Given the description of an element on the screen output the (x, y) to click on. 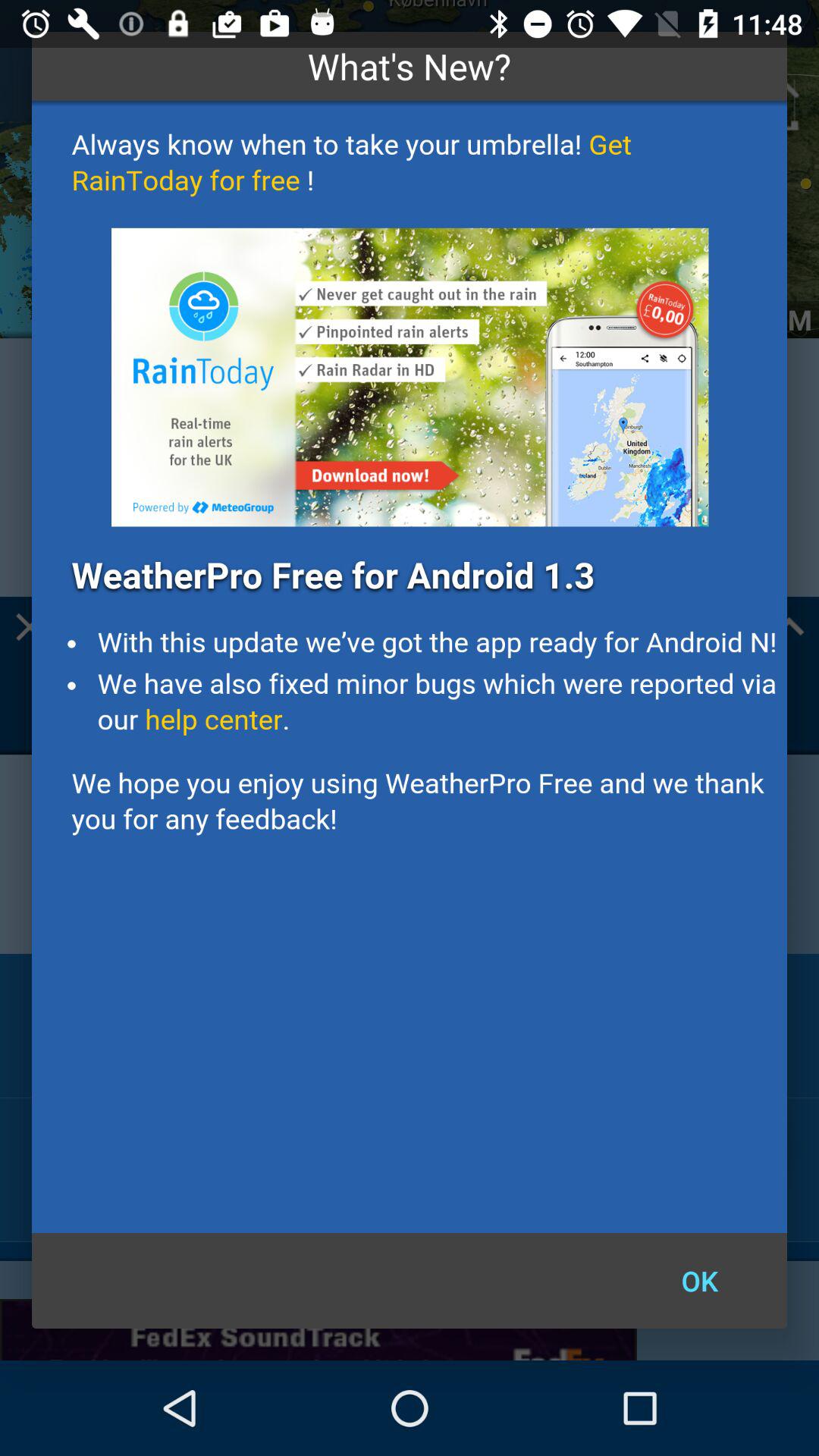
get weather app (409, 666)
